Given the description of an element on the screen output the (x, y) to click on. 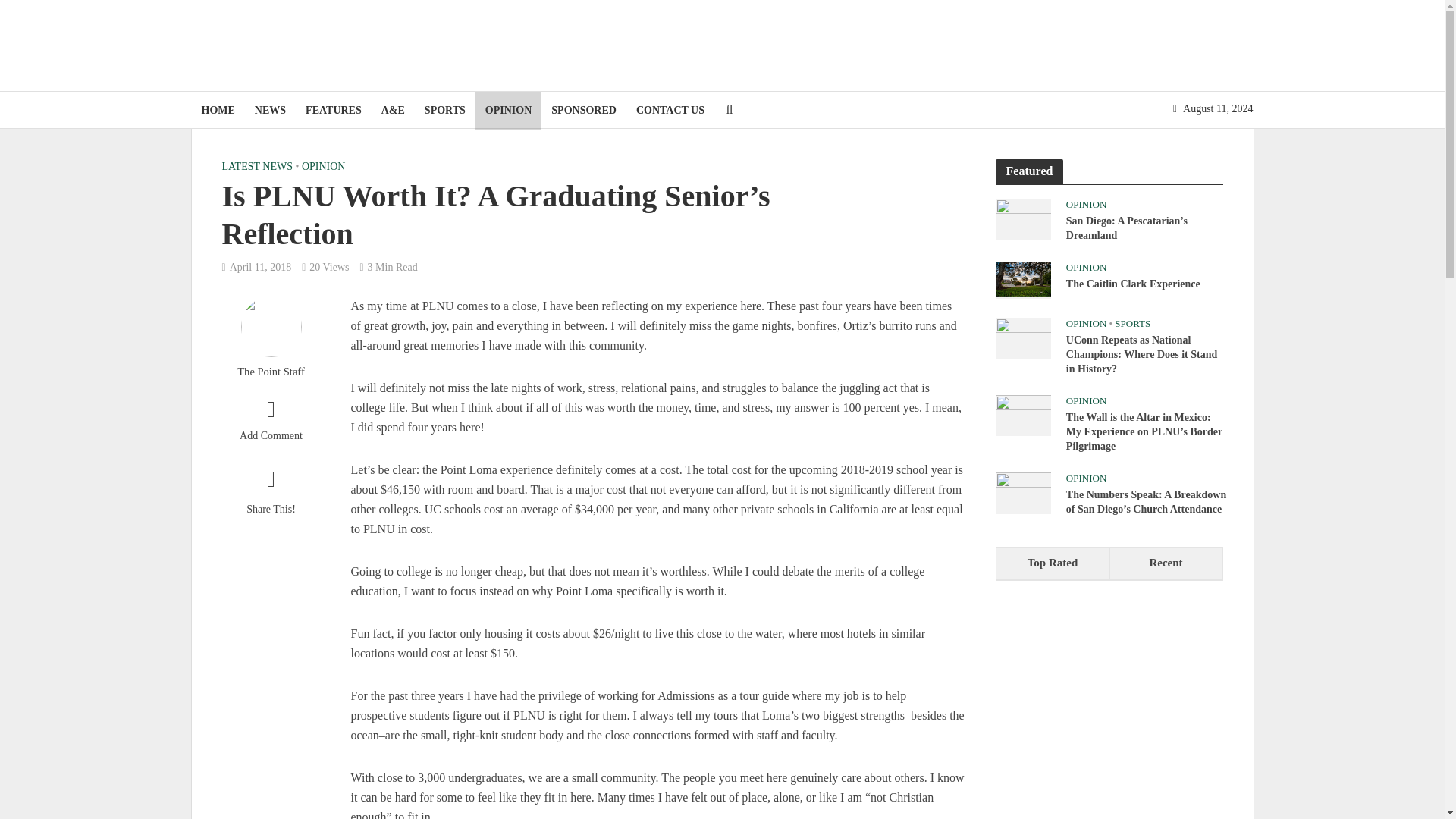
HOME (217, 110)
The Point Staff (270, 371)
OPINION (508, 110)
Add Comment (270, 423)
LATEST NEWS (256, 167)
FEATURES (333, 110)
OPINION (323, 167)
NEWS (269, 110)
SPORTS (445, 110)
